Given the description of an element on the screen output the (x, y) to click on. 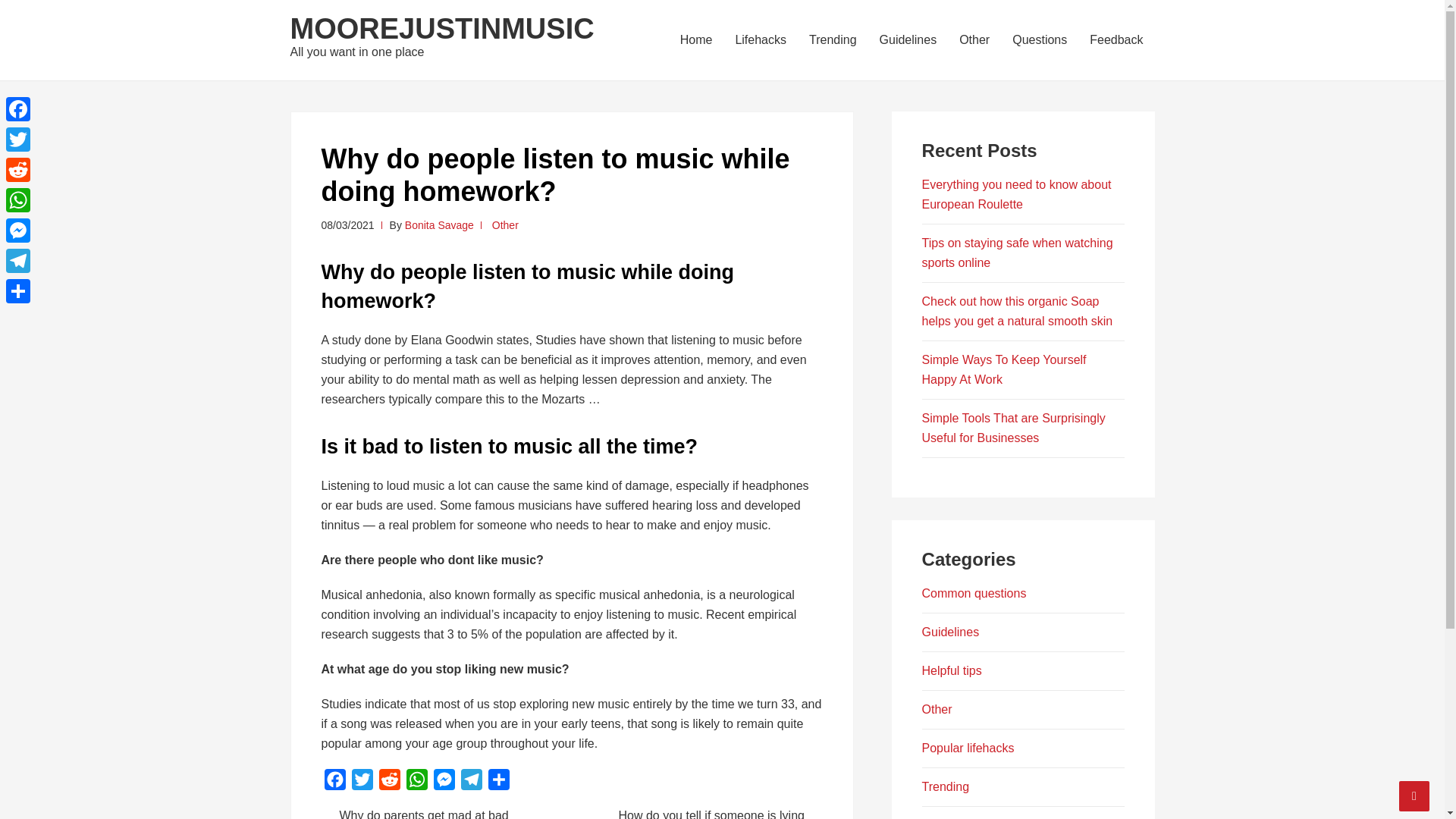
Guidelines (908, 39)
View all posts by Bonita Savage (439, 224)
Messenger (444, 782)
Tips on staying safe when watching sports online (1017, 252)
Other (505, 224)
Simple Tools That are Surprisingly Useful for Businesses (1013, 427)
Helpful tips (951, 670)
Messenger (17, 230)
How do you tell if someone is lying about cheating? (707, 814)
Twitter (362, 782)
Home (695, 39)
Common questions (973, 593)
Simple Ways To Keep Yourself Happy At Work (1003, 368)
Questions (1039, 39)
Reddit (17, 169)
